Given the description of an element on the screen output the (x, y) to click on. 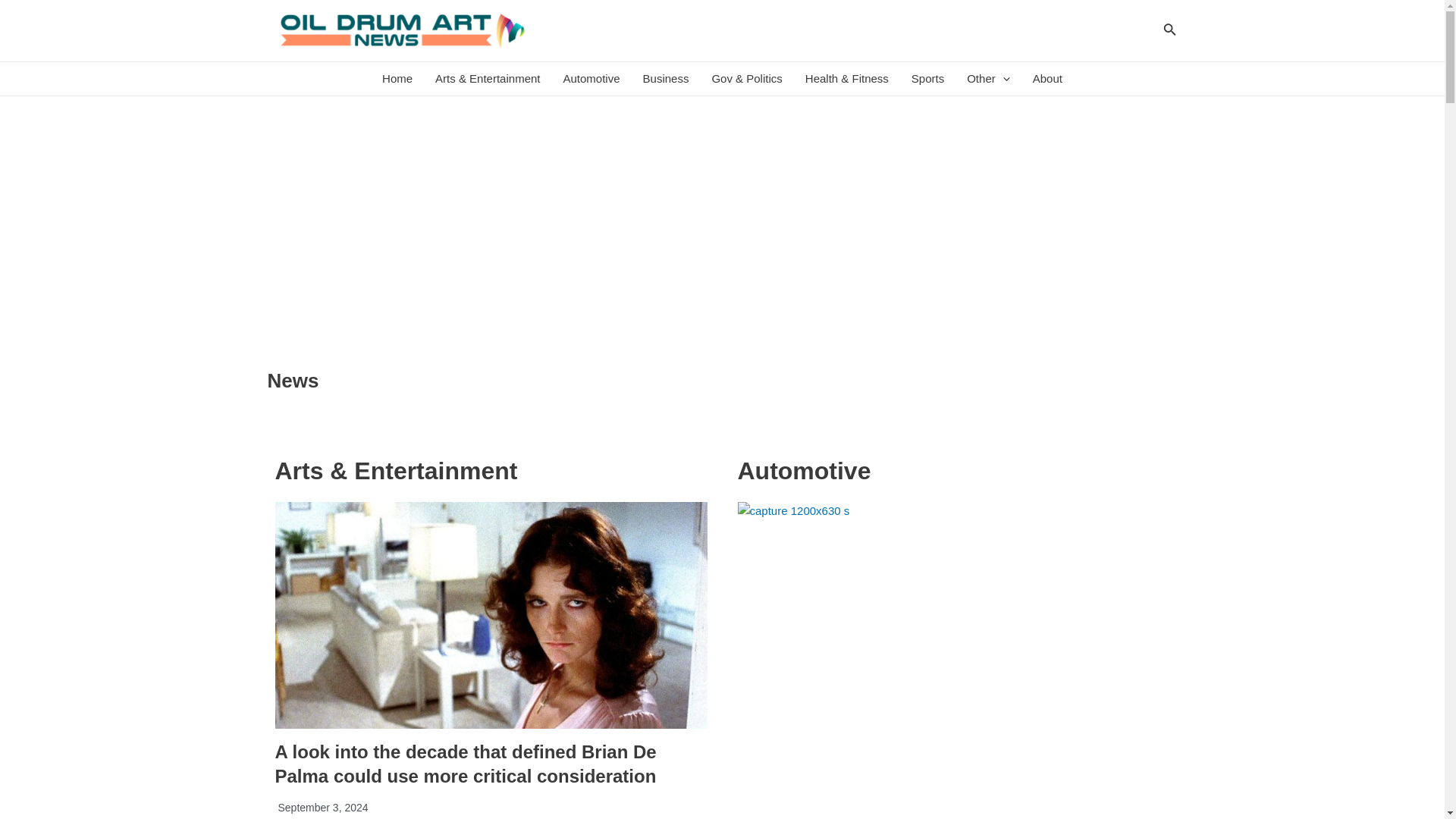
Home (397, 78)
Other (988, 78)
Business (665, 78)
About (1048, 78)
Automotive (591, 78)
Sports (927, 78)
